Given the description of an element on the screen output the (x, y) to click on. 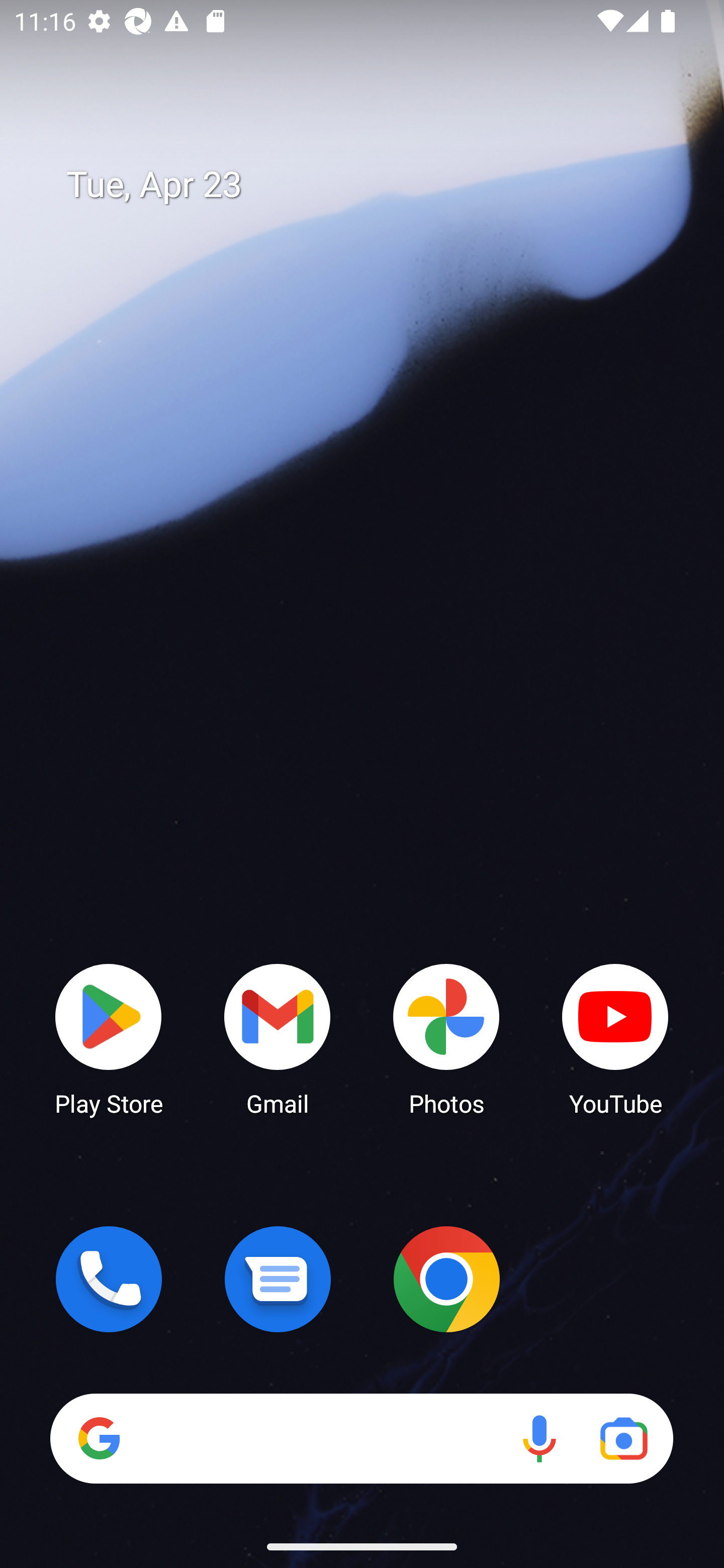
Tue, Apr 23 (375, 184)
Play Store (108, 1038)
Gmail (277, 1038)
Photos (445, 1038)
YouTube (615, 1038)
Phone (108, 1279)
Messages (277, 1279)
Chrome (446, 1279)
Search Voice search Google Lens (361, 1438)
Voice search (539, 1438)
Google Lens (623, 1438)
